Given the description of an element on the screen output the (x, y) to click on. 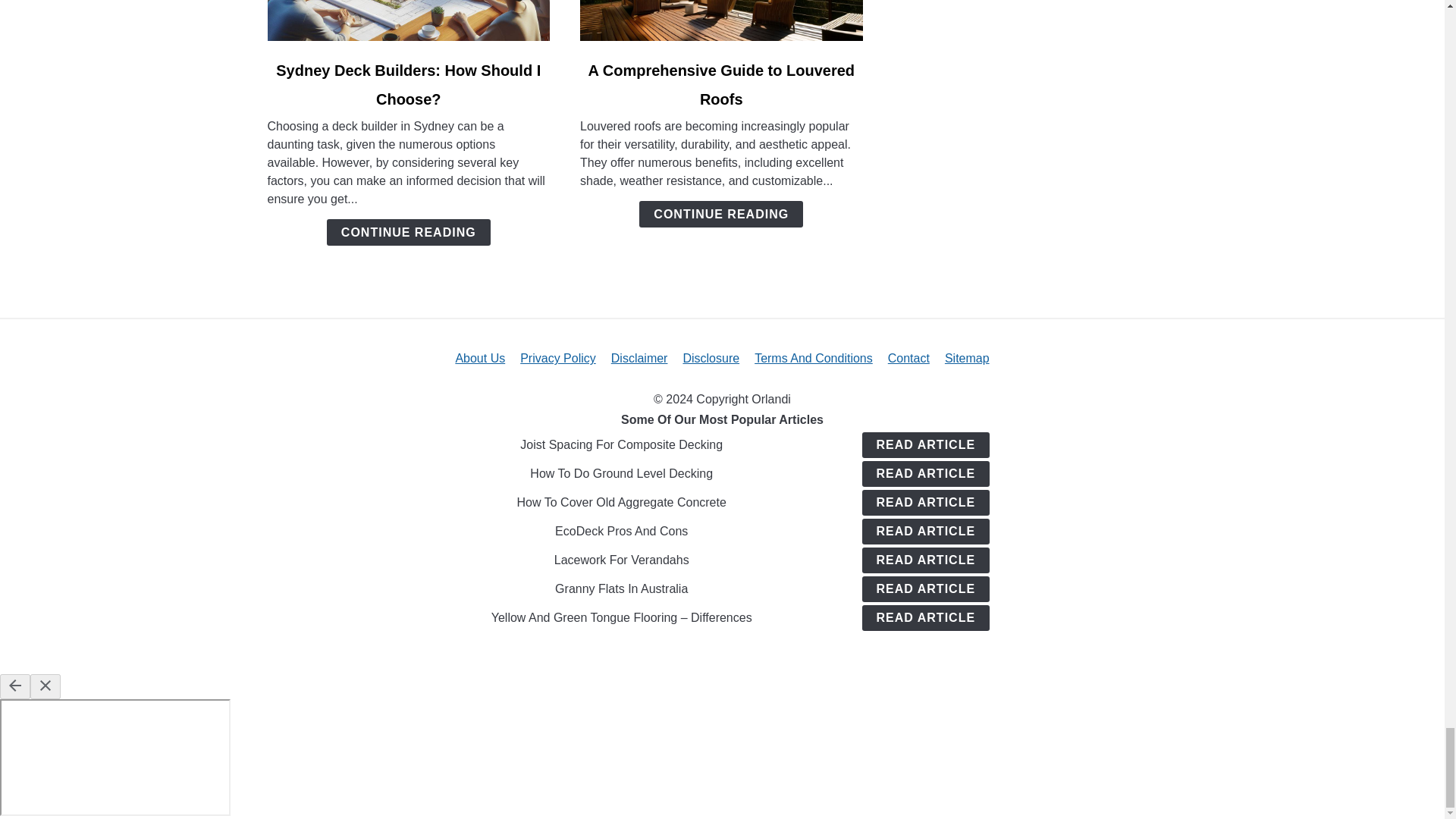
Contact (909, 358)
Sydney Deck Builders: How Should I Choose? (408, 84)
Terms And Conditions (813, 358)
CONTINUE READING (408, 232)
Disclosure (710, 358)
About Us (479, 358)
Privacy Policy (557, 358)
link to A Comprehensive Guide to Louvered Roofs (721, 20)
link to Sydney Deck Builders: How Should I Choose? (408, 20)
A Comprehensive Guide to Louvered Roofs (721, 84)
Disclaimer (639, 358)
CONTINUE READING (721, 213)
